Given the description of an element on the screen output the (x, y) to click on. 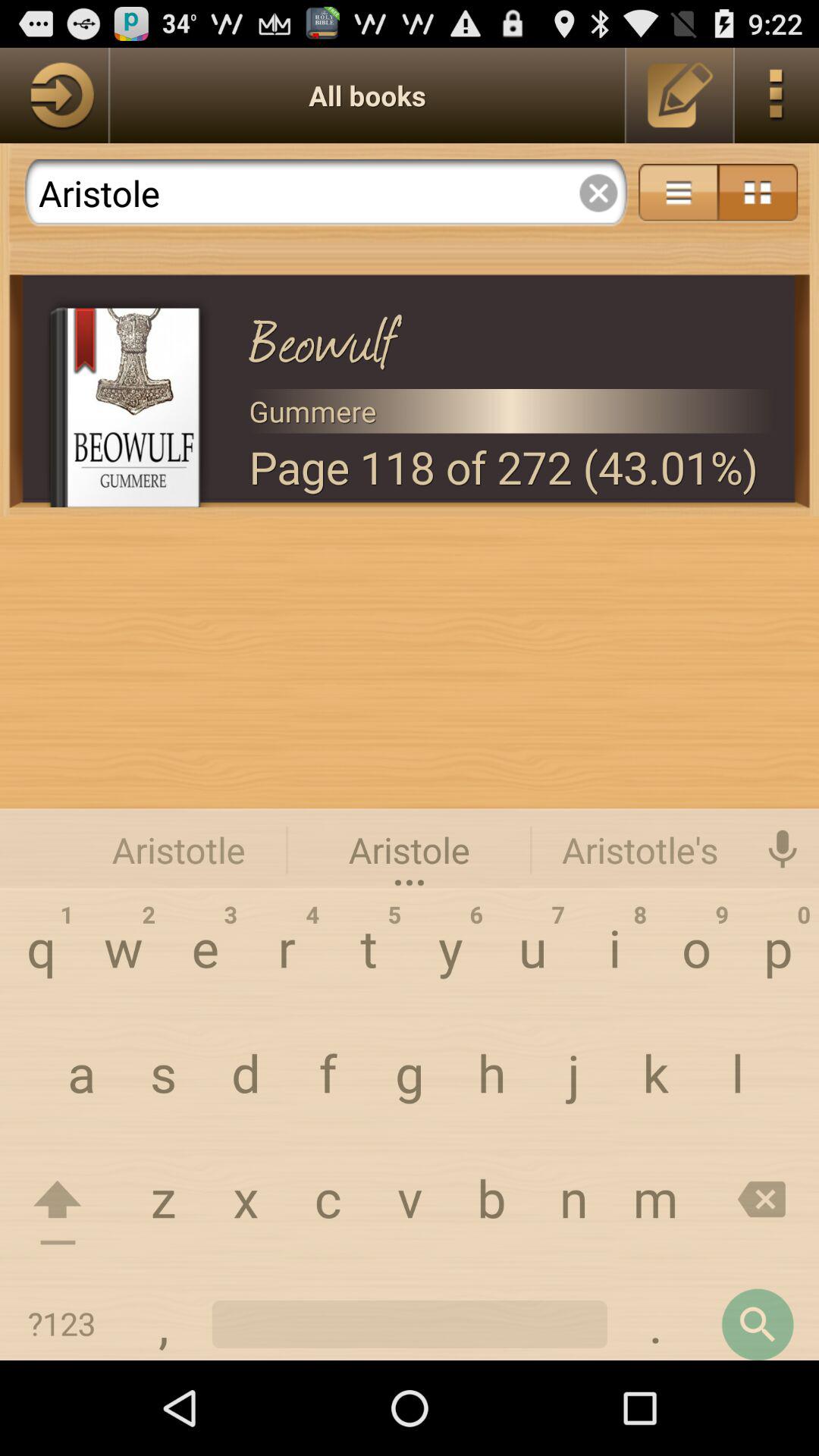
more options turned on (678, 192)
